Given the description of an element on the screen output the (x, y) to click on. 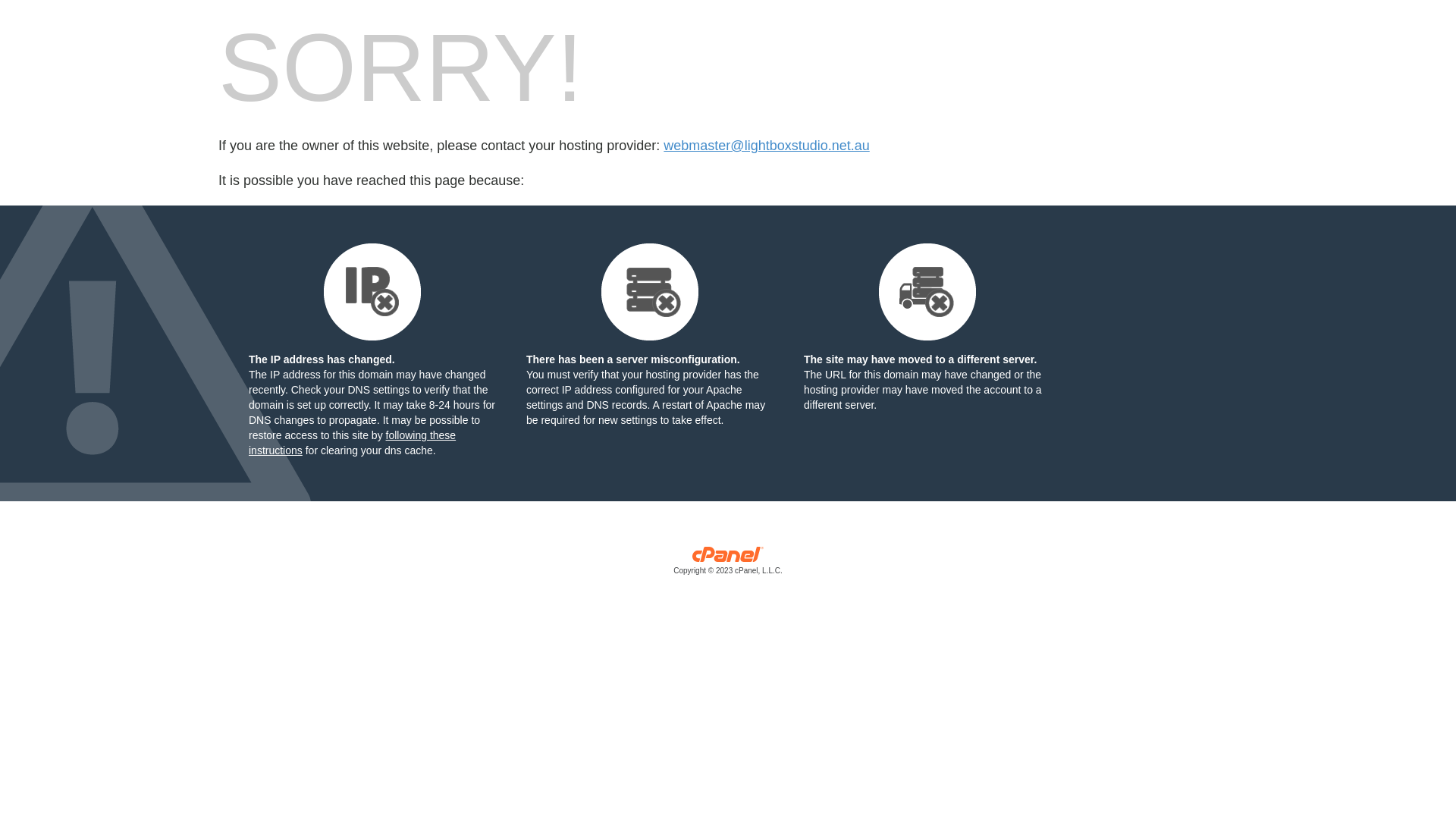
following these instructions Element type: text (351, 442)
webmaster@lightboxstudio.net.au Element type: text (766, 145)
